Given the description of an element on the screen output the (x, y) to click on. 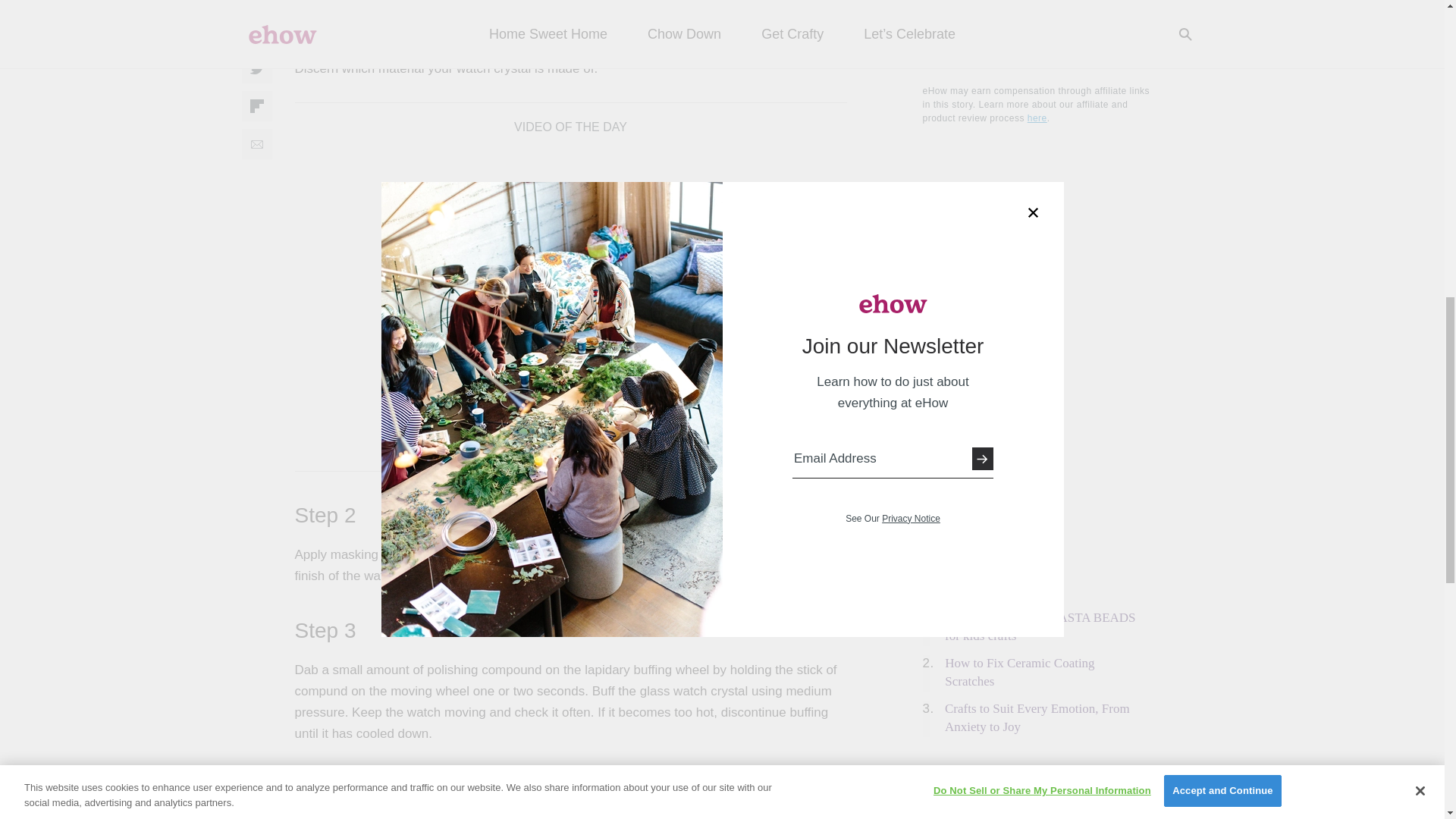
How to Fix Ceramic Coating Scratches (1019, 672)
How to dye colorful PASTA BEADS for kids crafts (1039, 626)
3rd party ad content (1035, 780)
Crafts to Suit Every Emotion, From Anxiety to Joy (1036, 717)
